Given the description of an element on the screen output the (x, y) to click on. 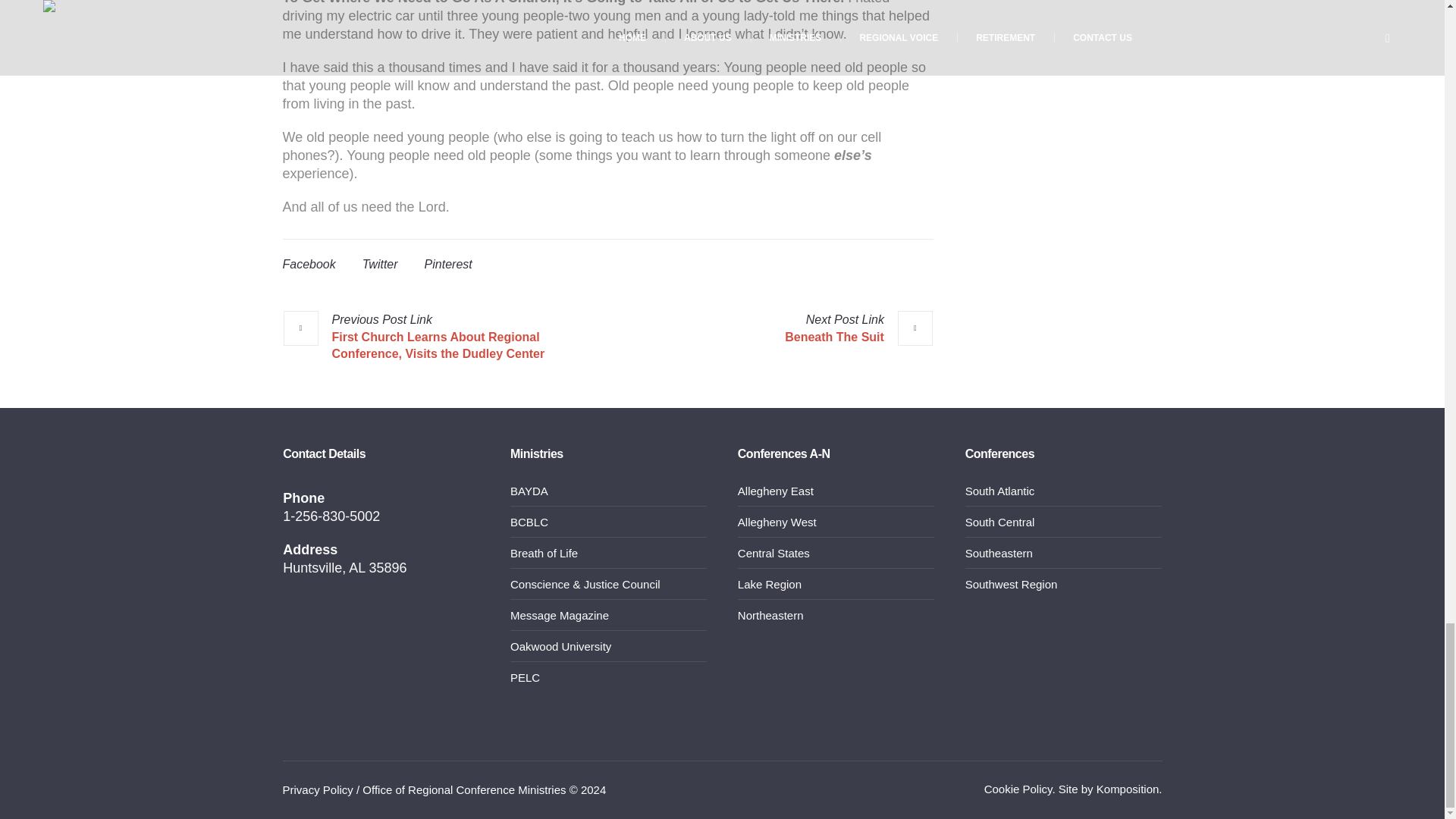
PELC (525, 676)
Oakwood University (561, 645)
Message Magazine (559, 615)
Southwest Region (1011, 584)
Allegheny East (775, 490)
Northeastern (770, 615)
South Atlantic (1000, 490)
Allegheny West (777, 521)
South Central (1000, 521)
